Given the description of an element on the screen output the (x, y) to click on. 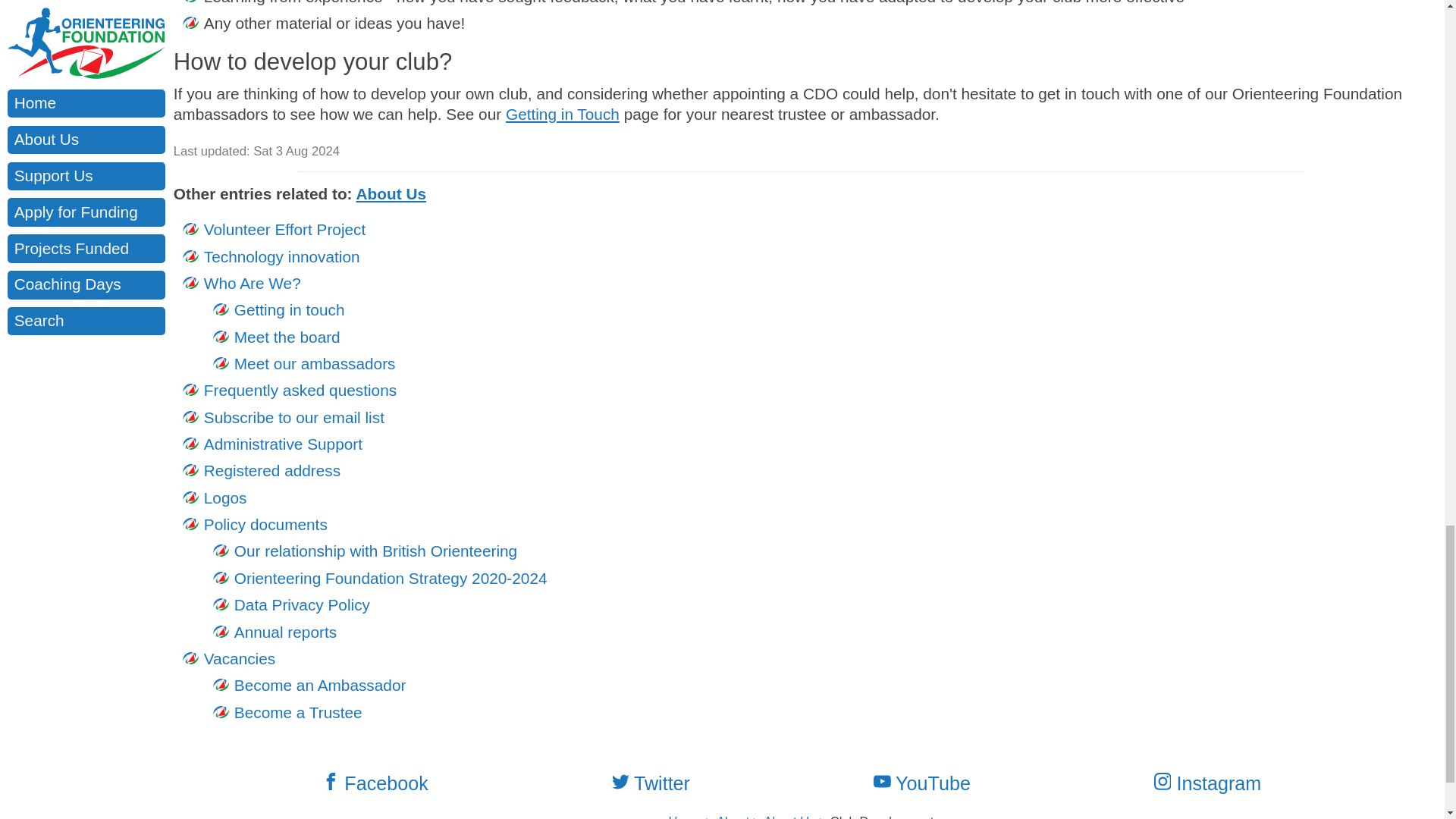
Find us on Facebook (383, 783)
Watch us on YouTube (931, 783)
Follow us on Twitter (660, 783)
